Given the description of an element on the screen output the (x, y) to click on. 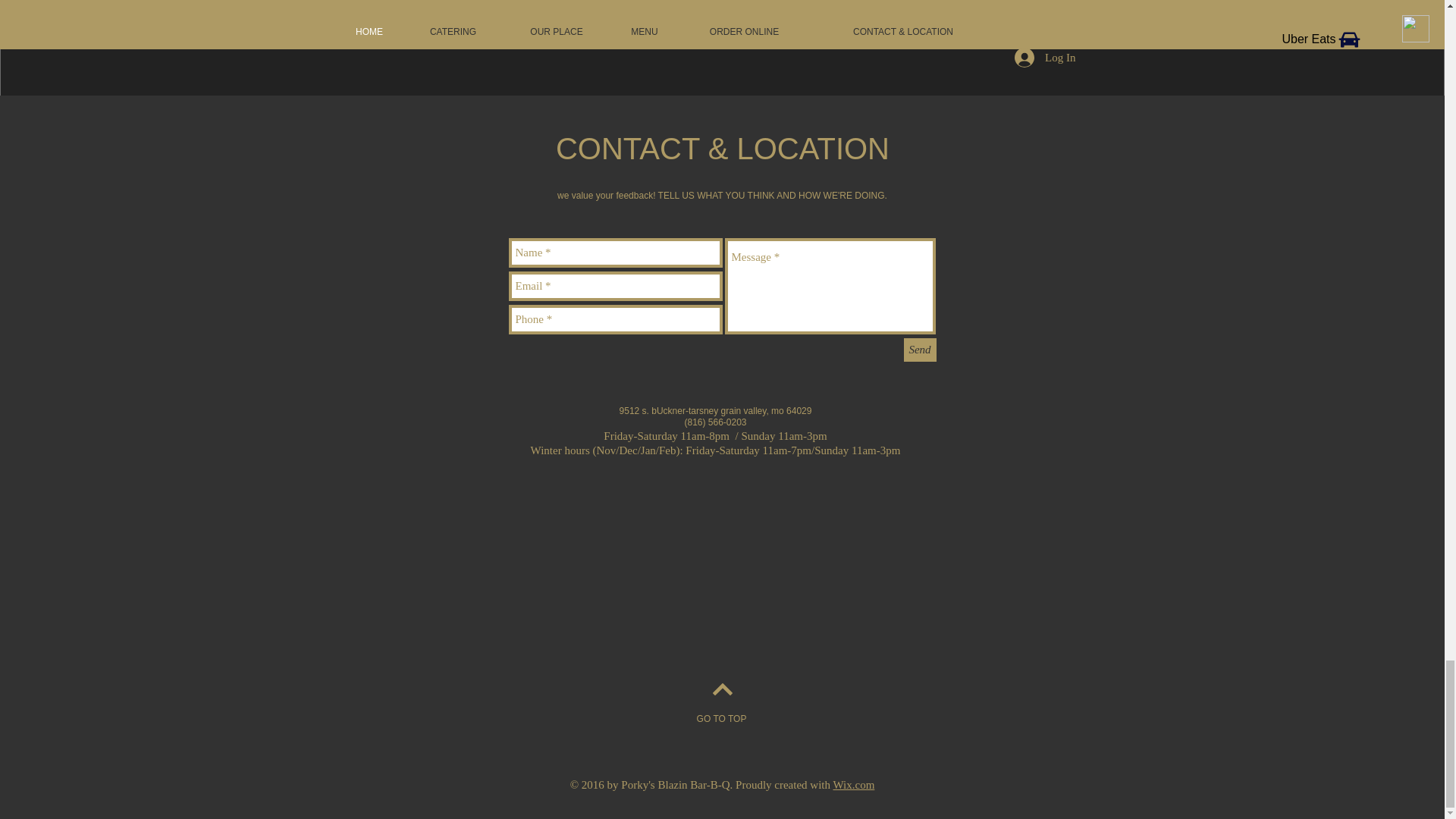
GO TO TOP (721, 718)
Wix.com (853, 784)
Subscribe Now (721, 23)
Send (920, 349)
